Given the description of an element on the screen output the (x, y) to click on. 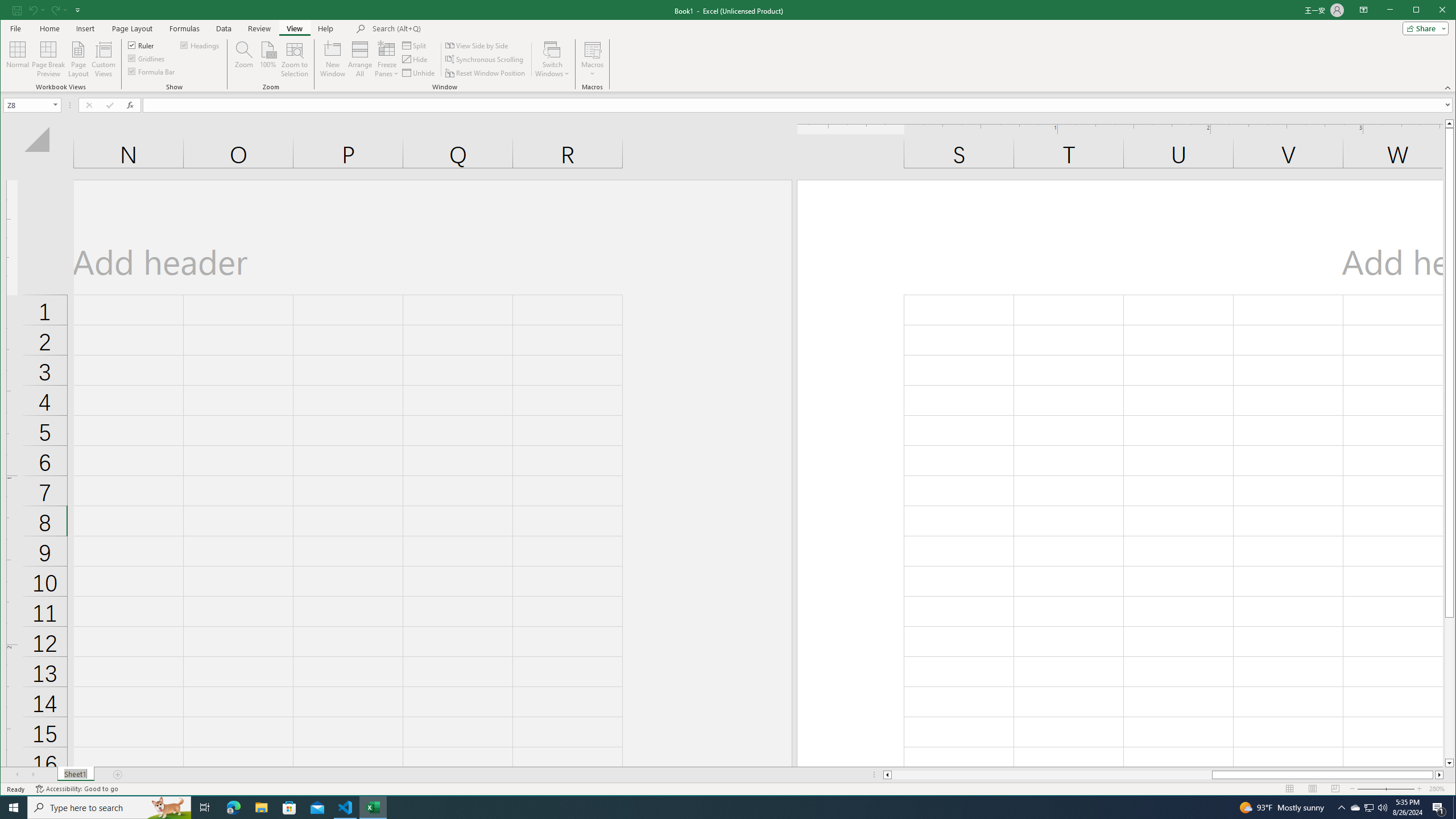
Accessibility Checker Accessibility: Good to go (76, 788)
Zoom (1384, 788)
Home (49, 28)
Type here to search (108, 807)
Switch Windows (552, 59)
User Promoted Notification Area (1368, 807)
Zoom Out (1378, 788)
Formula Bar (152, 70)
Visual Studio Code - 1 running window (345, 807)
Reset Window Position (486, 72)
Page Layout (132, 28)
100% (267, 59)
Minimize (1419, 11)
Collapse the Ribbon (1448, 87)
Hide (415, 59)
